Given the description of an element on the screen output the (x, y) to click on. 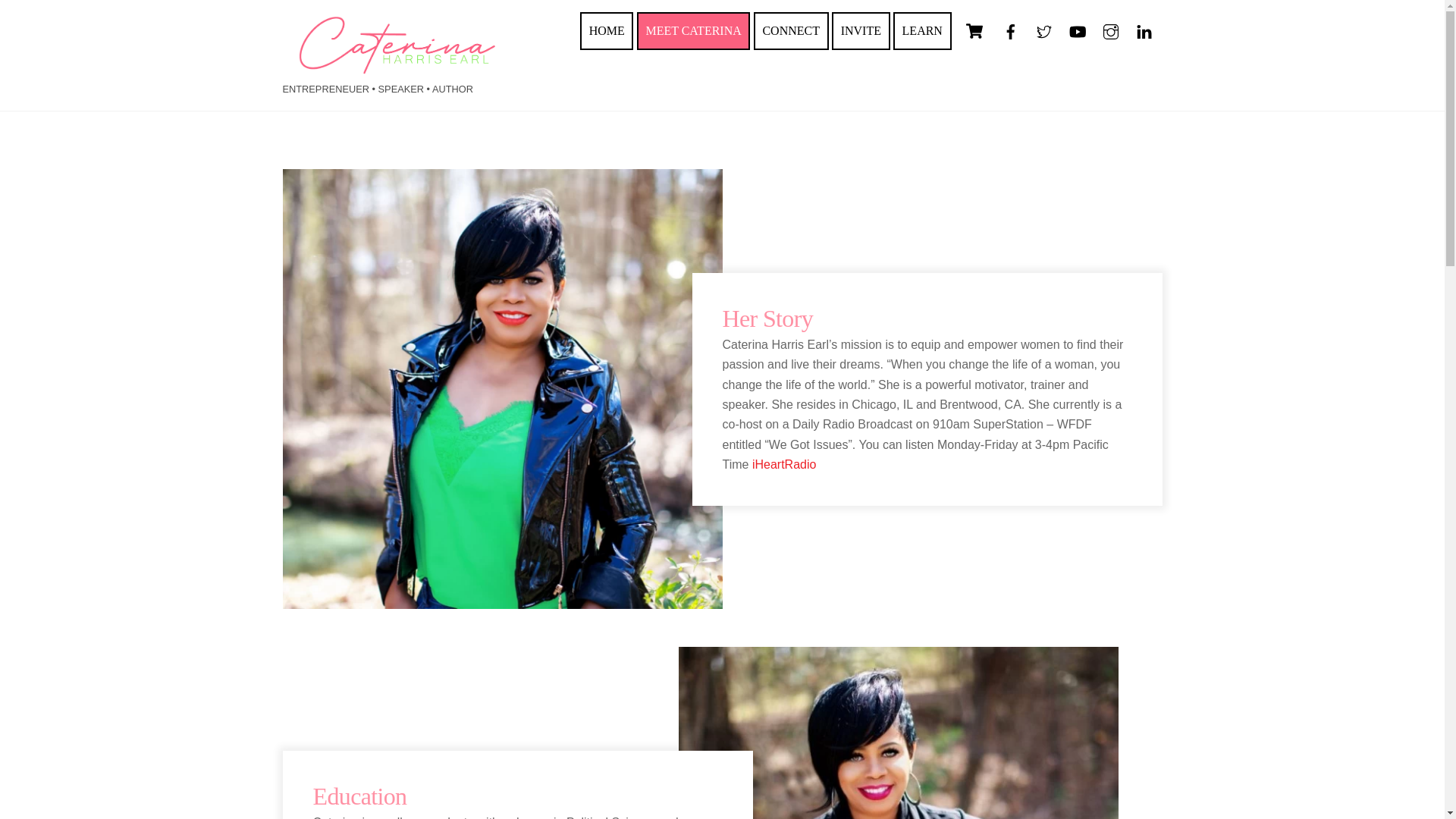
HOME (606, 30)
INVITE (860, 30)
MEET CATERINA (694, 30)
I Am Caterina (395, 66)
CONNECT (791, 30)
iHeartRadio (783, 463)
LEARN (721, 30)
Cart (922, 30)
